Given the description of an element on the screen output the (x, y) to click on. 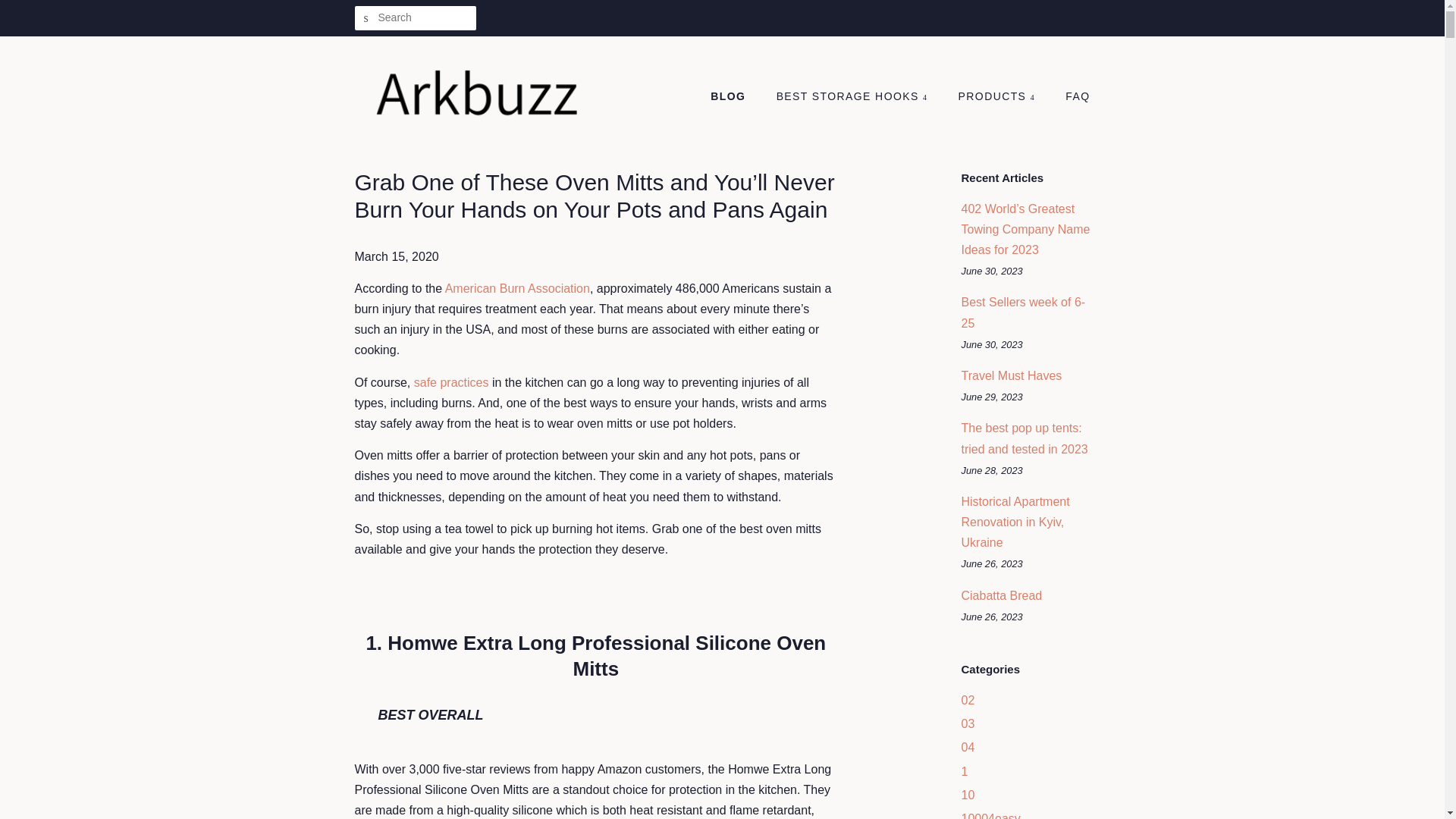
SEARCH (366, 18)
BEST STORAGE HOOKS (854, 96)
Show articles tagged 04 (967, 747)
Best Sellers week of 6-25 (1023, 312)
Show articles tagged 03 (967, 723)
FAQ (1071, 96)
safe practices (451, 382)
American Burn Association (517, 287)
BLOG (735, 96)
Show articles tagged 02 (967, 699)
Show articles tagged 10004easy (990, 815)
Show articles tagged 10 (967, 794)
PRODUCTS (998, 96)
